Given the description of an element on the screen output the (x, y) to click on. 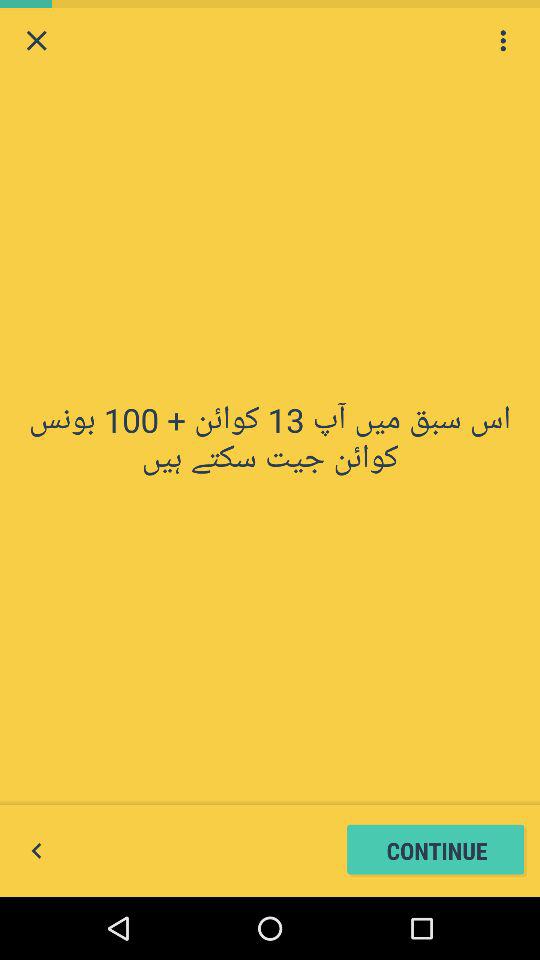
open the item at the bottom right corner (436, 850)
